Given the description of an element on the screen output the (x, y) to click on. 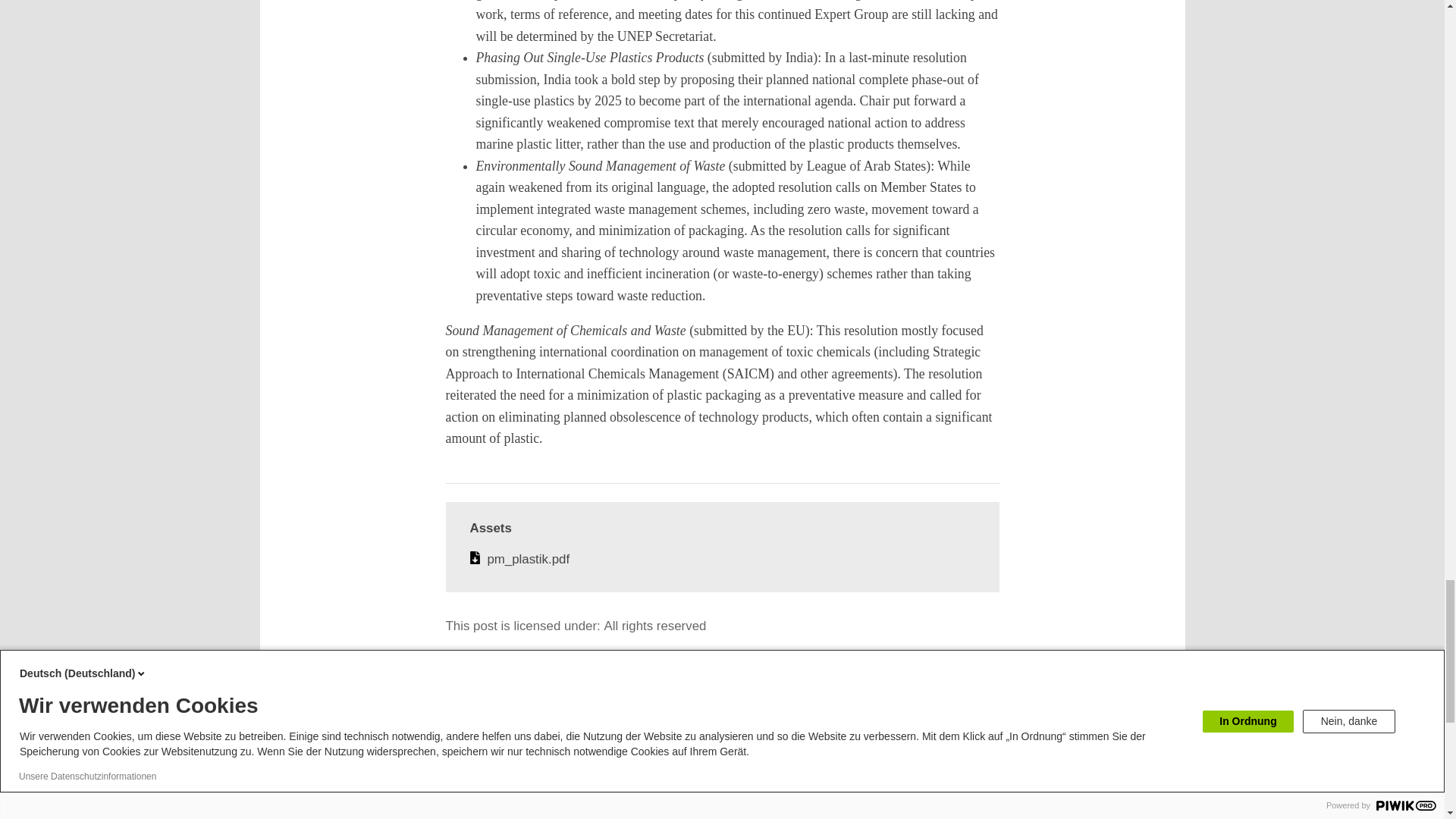
Head Quarter (435, 788)
